Given the description of an element on the screen output the (x, y) to click on. 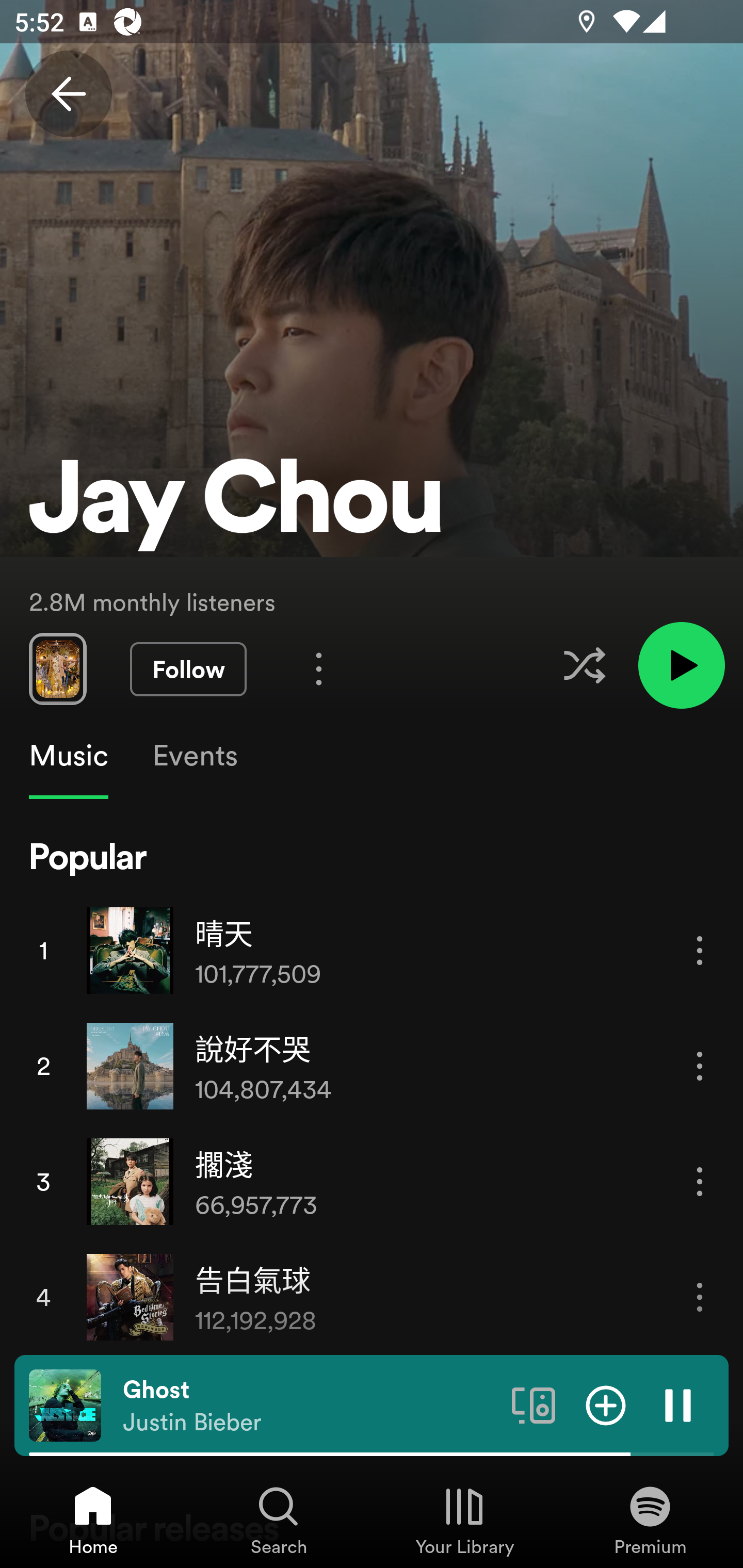
Back (68, 93)
Play artist (681, 664)
Enable shuffle for this artist (583, 665)
More options for artist Jay Chou (318, 668)
Follow (188, 669)
Events (194, 755)
1 晴天 101,777,509 More options for song 晴天 (371, 950)
More options for song 晴天 (699, 950)
2 說好不哭 104,807,434 More options for song 說好不哭 (371, 1066)
More options for song 說好不哭 (699, 1066)
3 擱淺 66,957,773 More options for song 擱淺 (371, 1181)
More options for song 擱淺 (699, 1181)
4 告白氣球 112,192,928 More options for song 告白氣球 (371, 1296)
More options for song 告白氣球 (699, 1297)
Ghost Justin Bieber (309, 1405)
The cover art of the currently playing track (64, 1404)
Connect to a device. Opens the devices menu (533, 1404)
Add item (605, 1404)
Pause (677, 1404)
Home, Tab 1 of 4 Home Home (92, 1519)
Search, Tab 2 of 4 Search Search (278, 1519)
Your Library, Tab 3 of 4 Your Library Your Library (464, 1519)
Premium, Tab 4 of 4 Premium Premium (650, 1519)
